Given the description of an element on the screen output the (x, y) to click on. 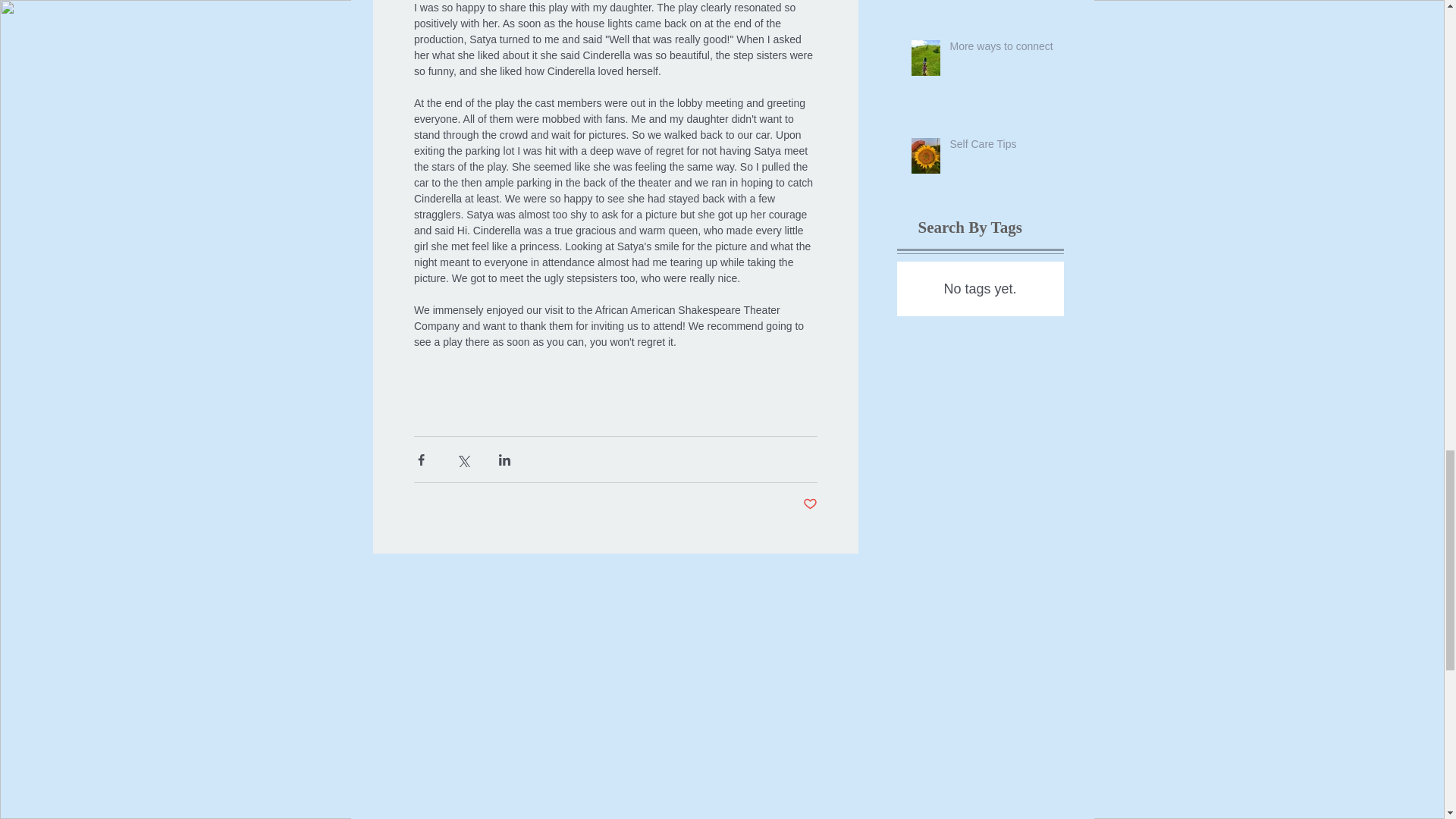
More ways to connect (1003, 49)
Post not marked as liked (809, 504)
Self Care Tips (1003, 147)
